Given the description of an element on the screen output the (x, y) to click on. 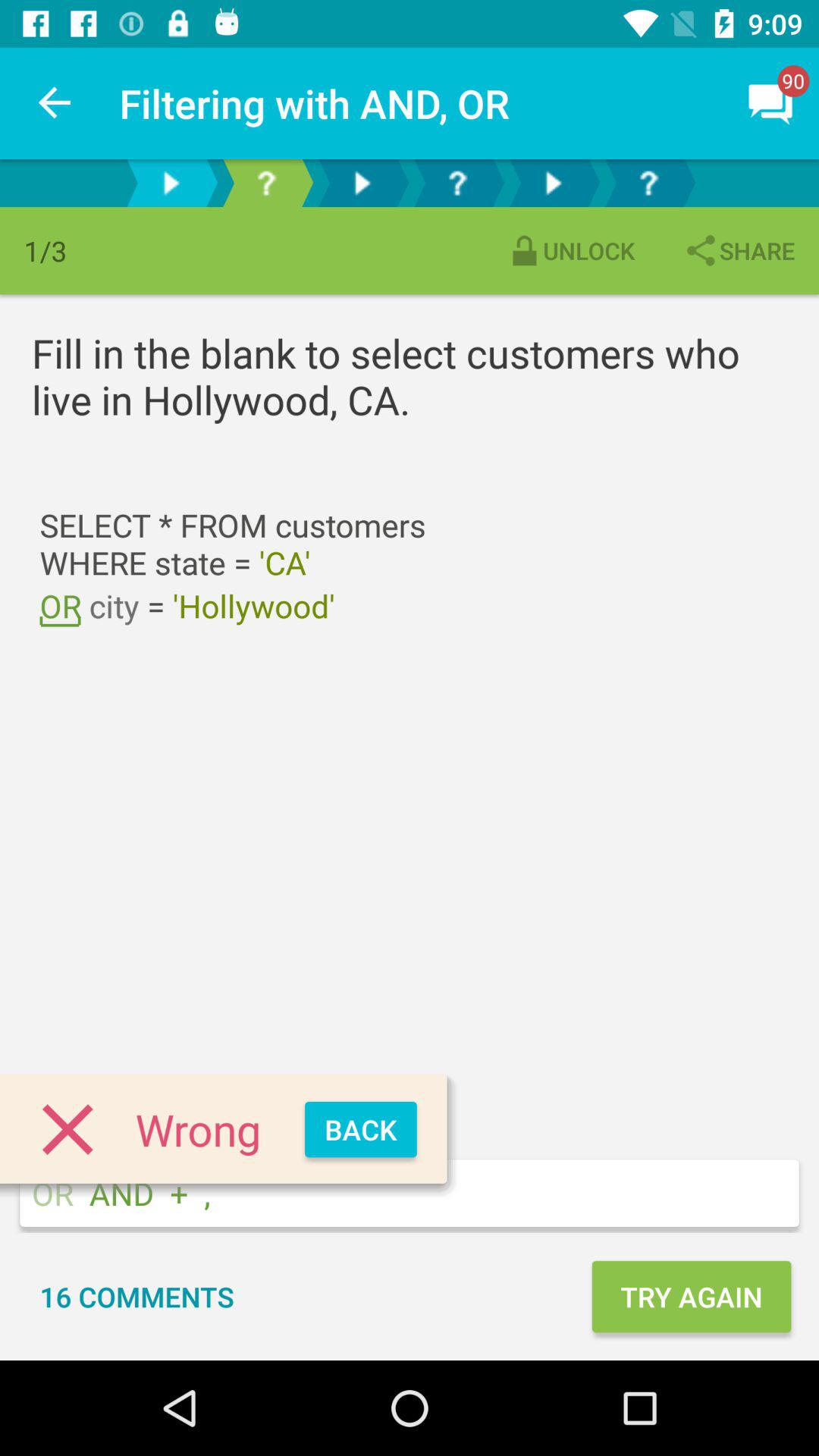
turn on back (360, 1129)
